Given the description of an element on the screen output the (x, y) to click on. 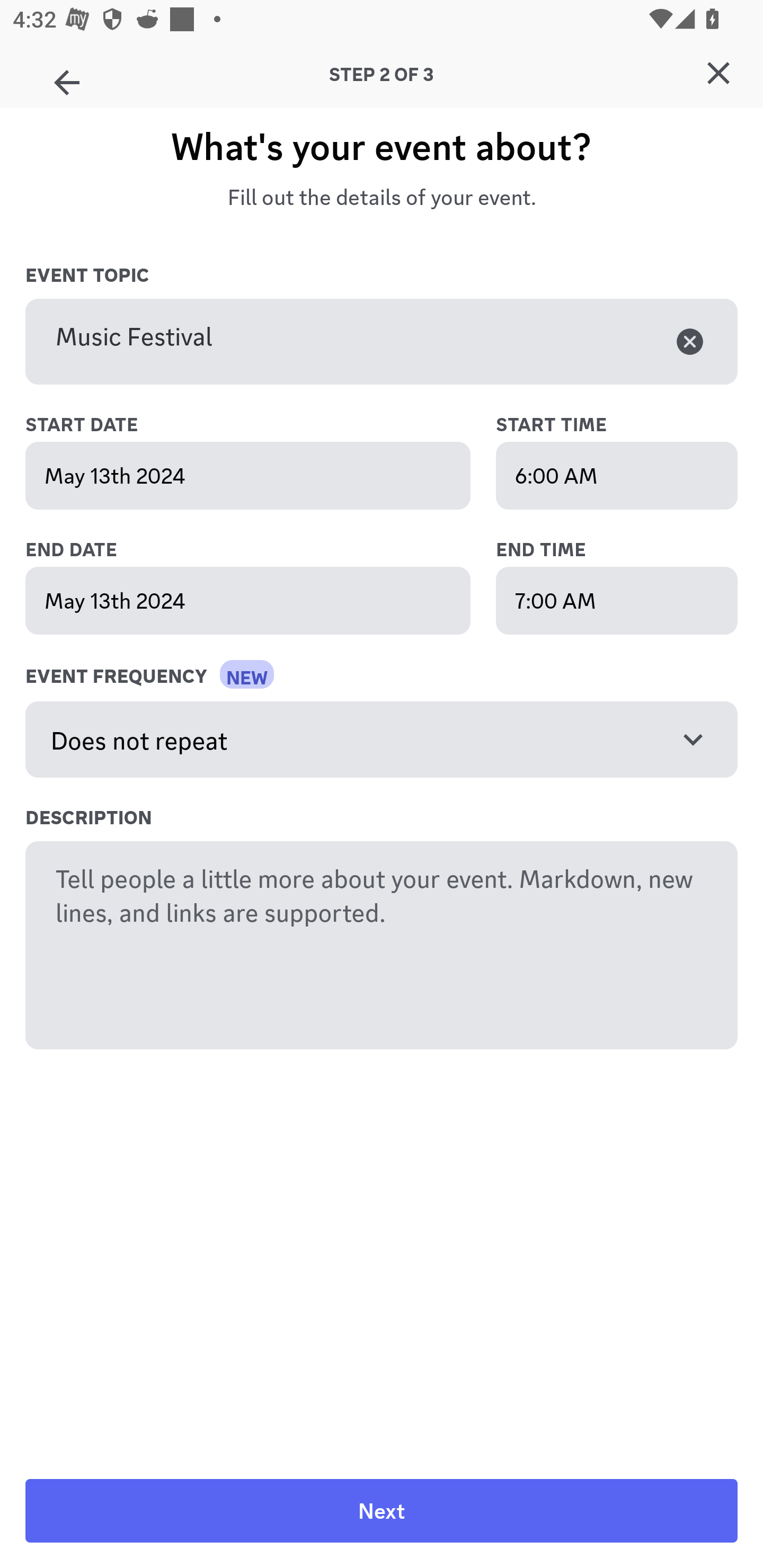
  Friends F (66, 75)
Close (718, 72)
Search (373, 165)
Music Festival Event Topic Clear (381, 341)
Clear (689, 341)
START DATE (266, 425)
START TIME (616, 425)
Start Date, May 13th 2024 May 13th 2024 (247, 475)
Start Time, 6:00 AM 6:00 AM (616, 475)
END DATE (266, 550)
END TIME (616, 550)
End Date, May 13th 2024 May 13th 2024 (247, 600)
End Time, 7:00 AM 7:00 AM (616, 600)
Event Frequency Does not repeat (381, 738)
Next (381, 1510)
